Given the description of an element on the screen output the (x, y) to click on. 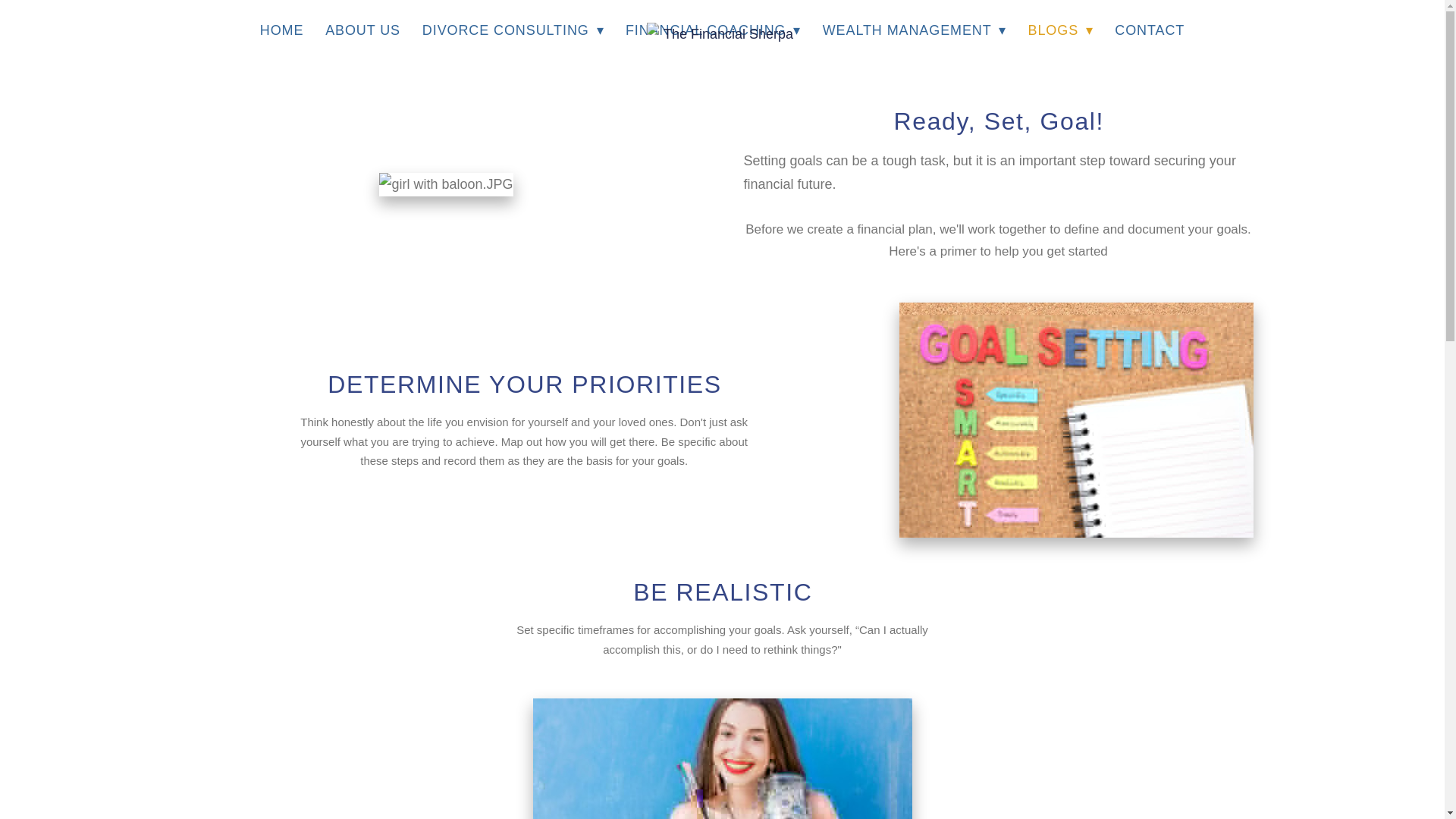
ABOUT US (362, 30)
CONTACT (1150, 30)
The Financial Sherpa (721, 33)
HOME (282, 30)
